Given the description of an element on the screen output the (x, y) to click on. 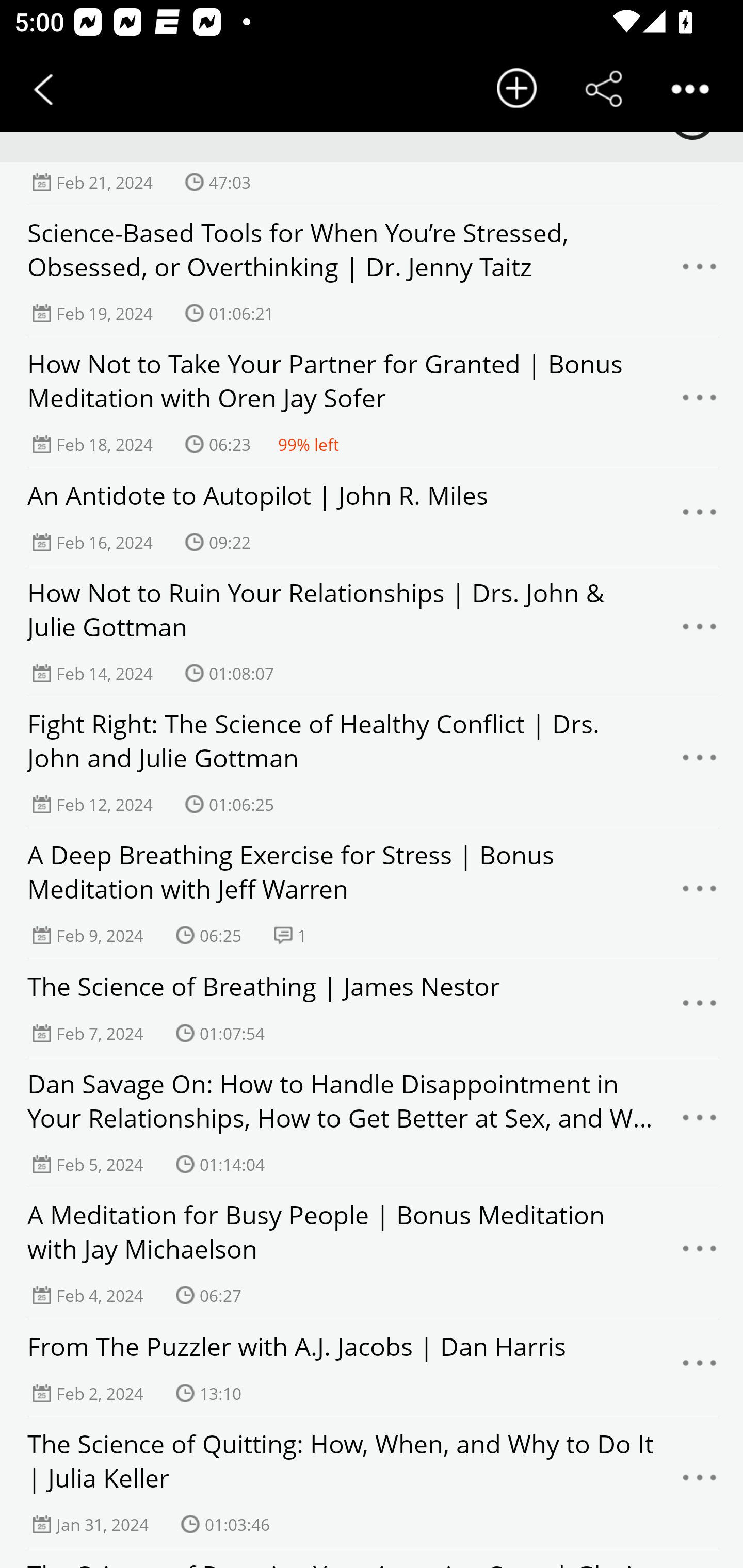
Back (43, 88)
Menu (699, 271)
Menu (699, 402)
Menu (699, 517)
Menu (699, 631)
Menu (699, 762)
Menu (699, 893)
Menu (699, 1008)
Menu (699, 1122)
Menu (699, 1253)
Menu (699, 1367)
Menu (699, 1482)
